Given the description of an element on the screen output the (x, y) to click on. 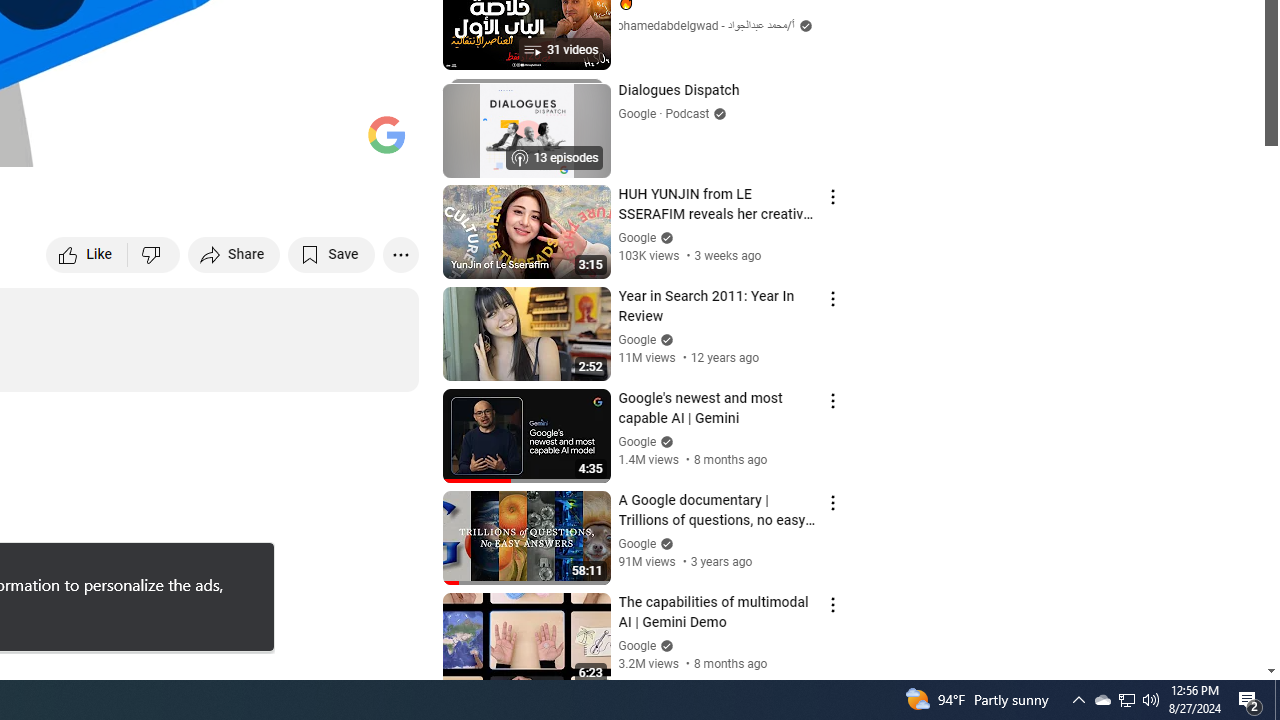
Dislike this video (154, 254)
More actions (399, 254)
